Given the description of an element on the screen output the (x, y) to click on. 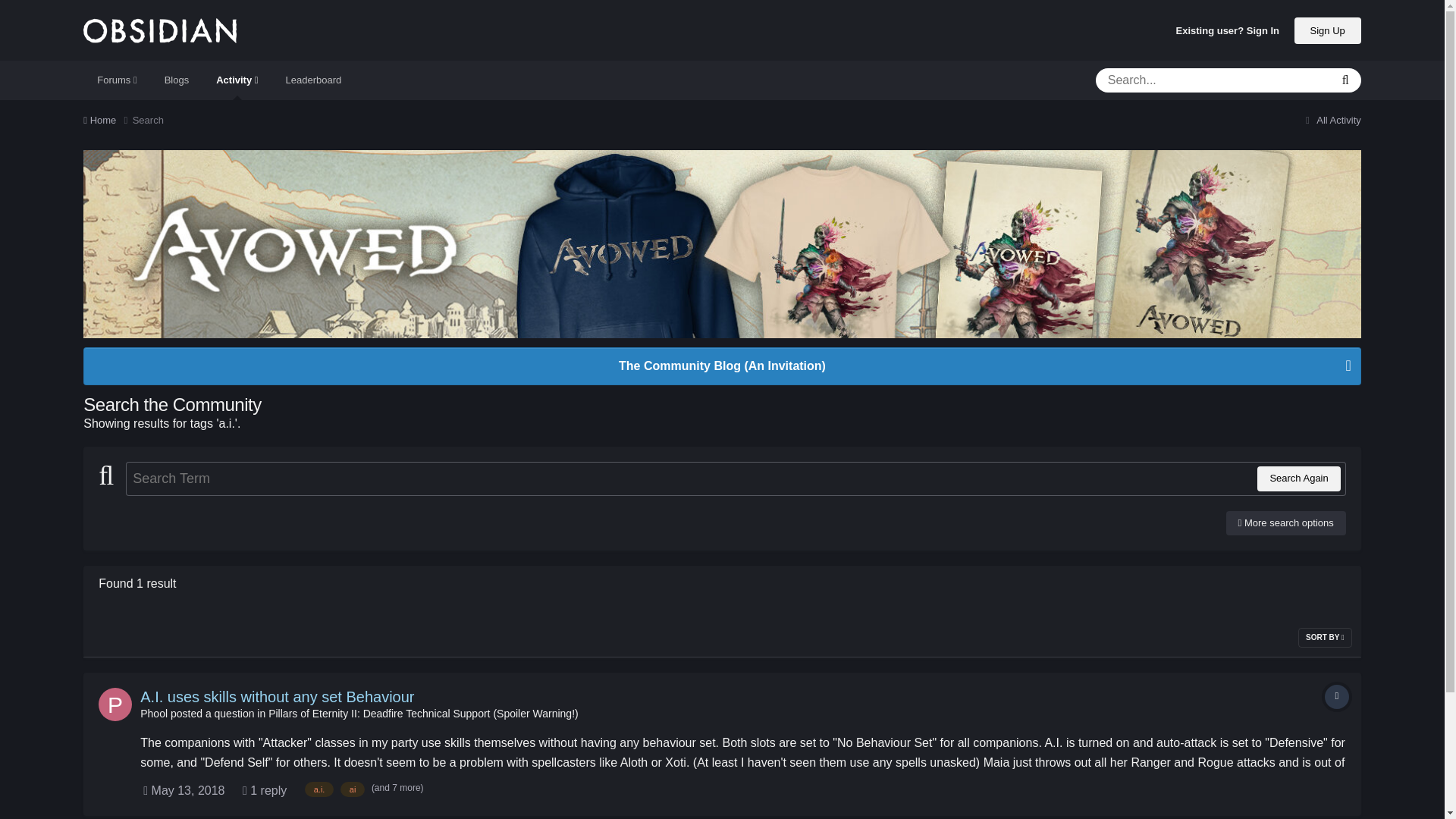
Existing user? Sign In (1227, 30)
Home (107, 120)
Go to Phool's profile (153, 713)
Go to Phool's profile (115, 704)
Home (107, 120)
Find other content tagged with 'a.i.' (319, 789)
Blogs (177, 79)
Forums (115, 79)
Search Again (1298, 478)
Search (147, 120)
